Given the description of an element on the screen output the (x, y) to click on. 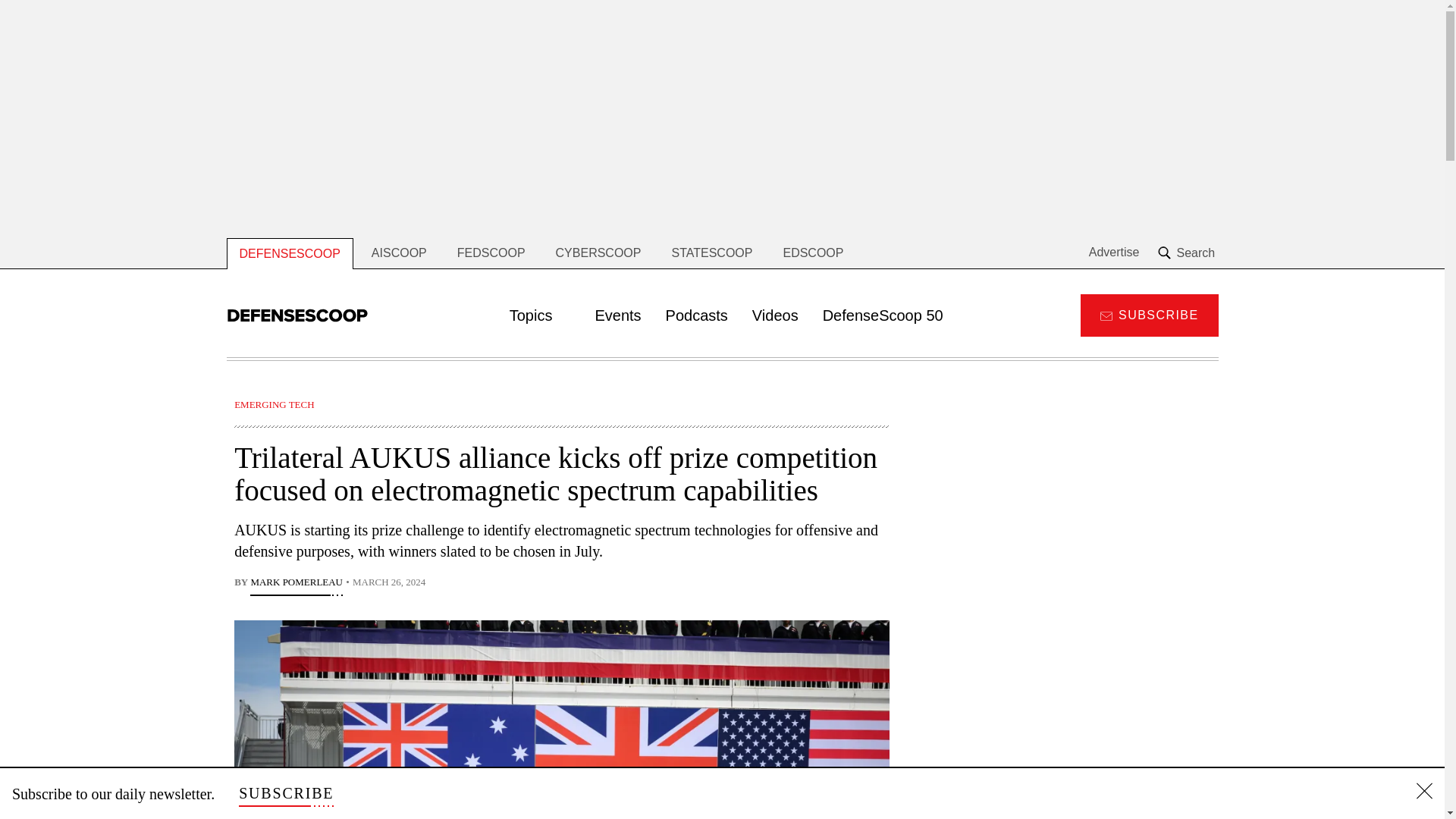
SUBSCRIBE (285, 793)
Videos (774, 315)
DefenseScoop 50 (882, 315)
DEFENSESCOOP (288, 253)
MARK POMERLEAU (296, 583)
Topics (540, 315)
FEDSCOOP (491, 253)
Events (617, 315)
Advertise (1114, 252)
Mark Pomerleau (296, 583)
AISCOOP (399, 253)
EDSCOOP (813, 253)
STATESCOOP (711, 253)
Search (1187, 252)
